Given the description of an element on the screen output the (x, y) to click on. 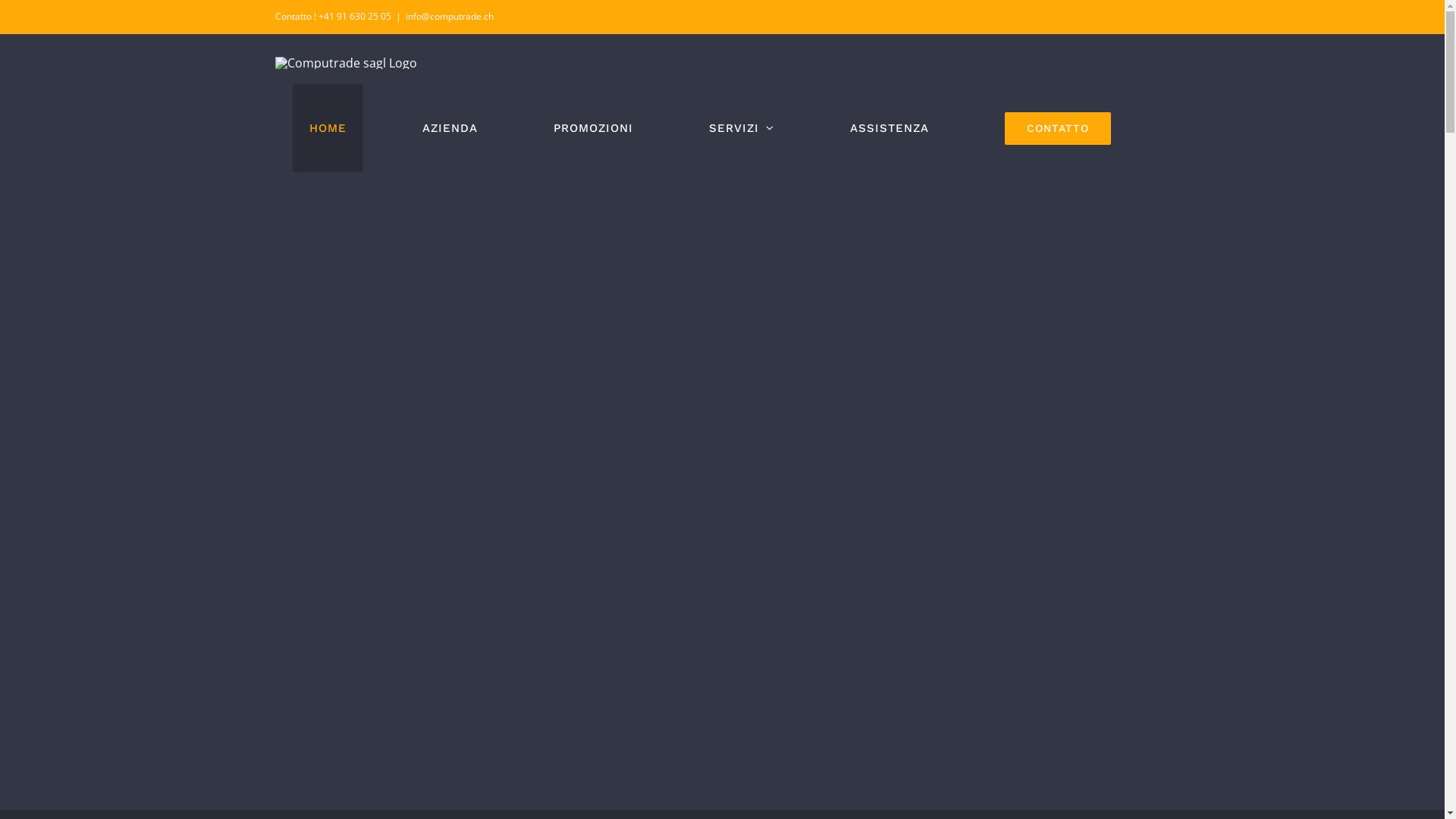
PROMOZIONI Element type: text (592, 128)
CONTATTO Element type: text (1056, 128)
SERVIZI Element type: text (740, 128)
HOME Element type: text (327, 128)
info@computrade.ch Element type: text (448, 15)
ASSISTENZA Element type: text (888, 128)
AZIENDA Element type: text (448, 128)
